Given the description of an element on the screen output the (x, y) to click on. 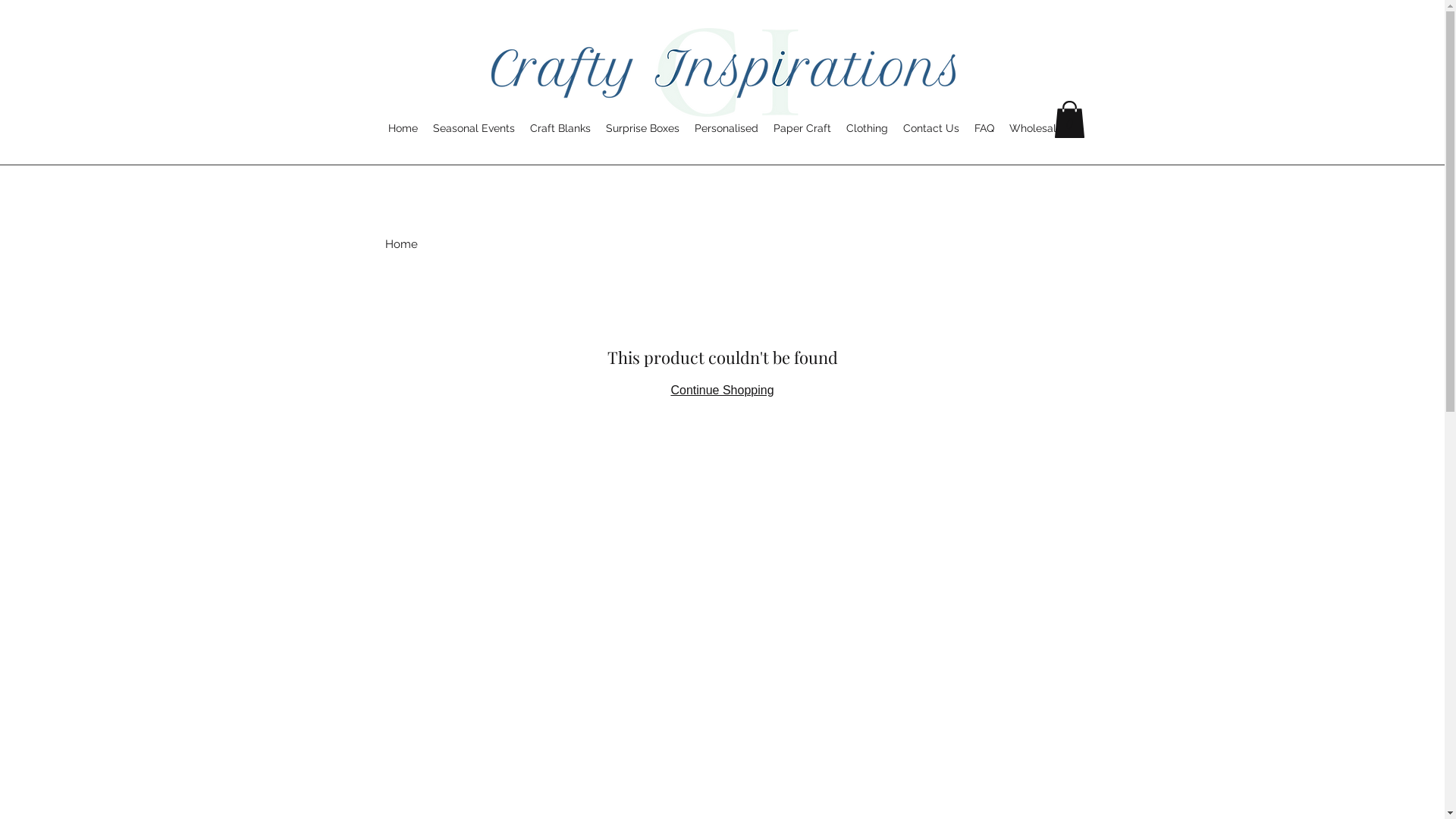
Contact Us Element type: text (930, 128)
Seasonal Events Element type: text (473, 128)
FAQ Element type: text (983, 128)
Home Element type: text (402, 128)
Home Element type: text (401, 244)
Paper Craft Element type: text (801, 128)
Clothing Element type: text (866, 128)
Personalised Element type: text (726, 128)
Craft Blanks Element type: text (560, 128)
Wholesale Element type: text (1035, 128)
0 Element type: text (1069, 119)
Surprise Boxes Element type: text (642, 128)
Continue Shopping Element type: text (721, 389)
